Given the description of an element on the screen output the (x, y) to click on. 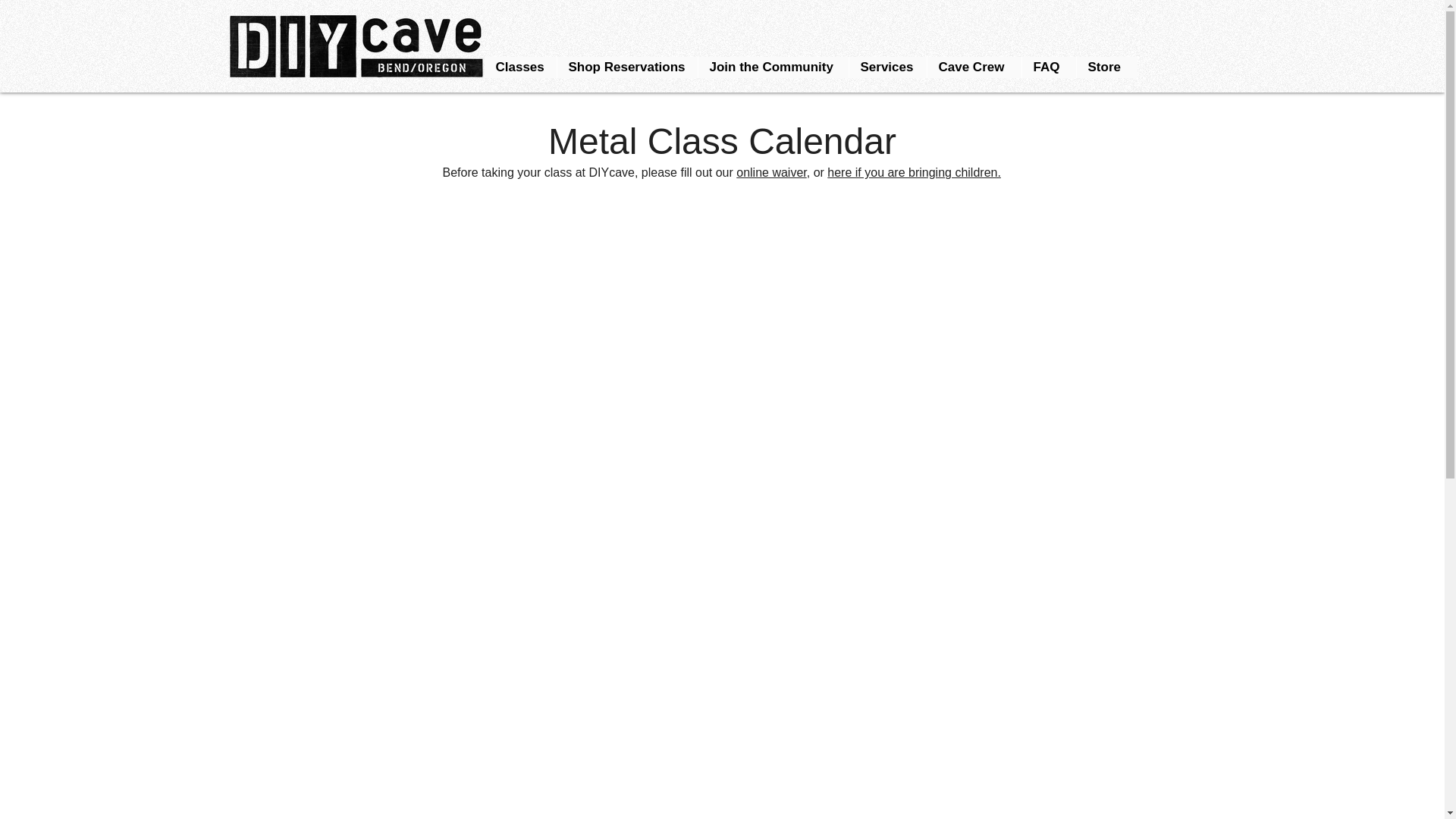
online waiver (771, 172)
here if you are bringing children. (914, 172)
Services (886, 66)
